Given the description of an element on the screen output the (x, y) to click on. 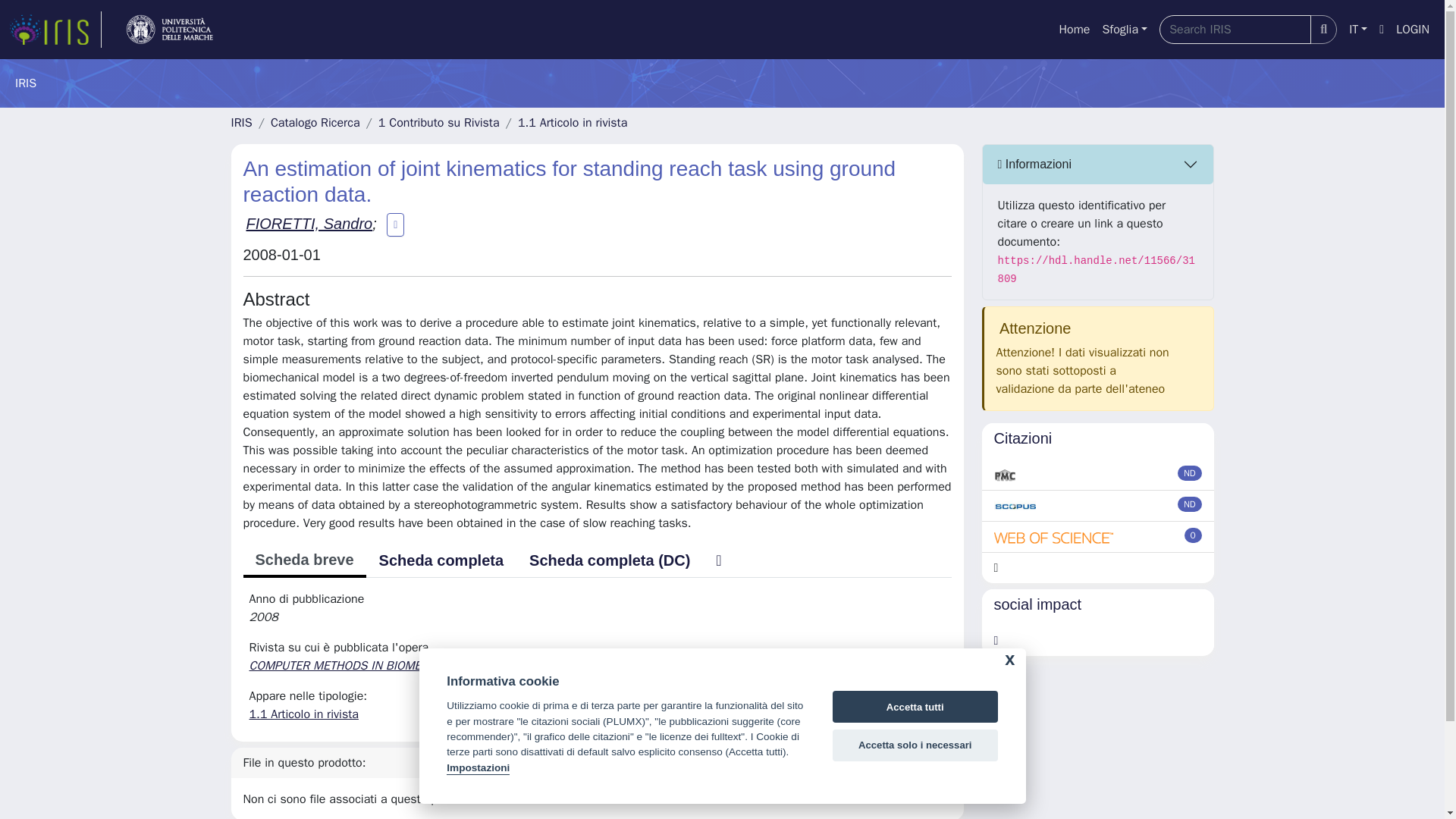
COMPUTER METHODS IN BIOMECHANICS AND BIOMEDICAL ENGINEERING (447, 665)
Catalogo Ricerca (314, 122)
1 Contributo su Rivista (438, 122)
IRIS (240, 122)
IT (1357, 29)
Home (1074, 29)
1.1 Articolo in rivista (303, 713)
Sfoglia (1124, 29)
FIORETTI, Sandro (309, 223)
Scheda completa (441, 560)
